Given the description of an element on the screen output the (x, y) to click on. 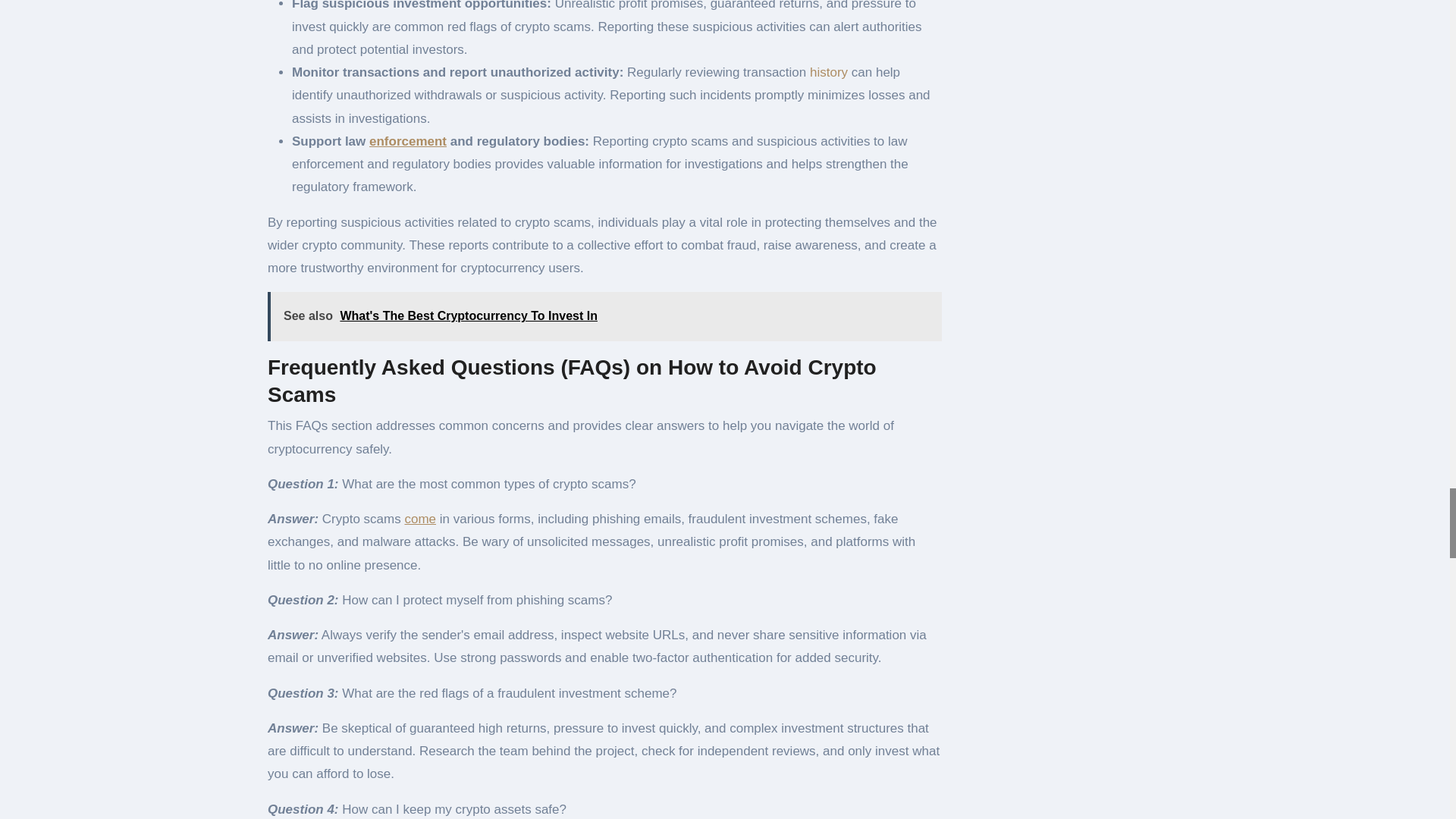
Posts tagged with Enforcement (407, 141)
Posts tagged with history (828, 72)
